Given the description of an element on the screen output the (x, y) to click on. 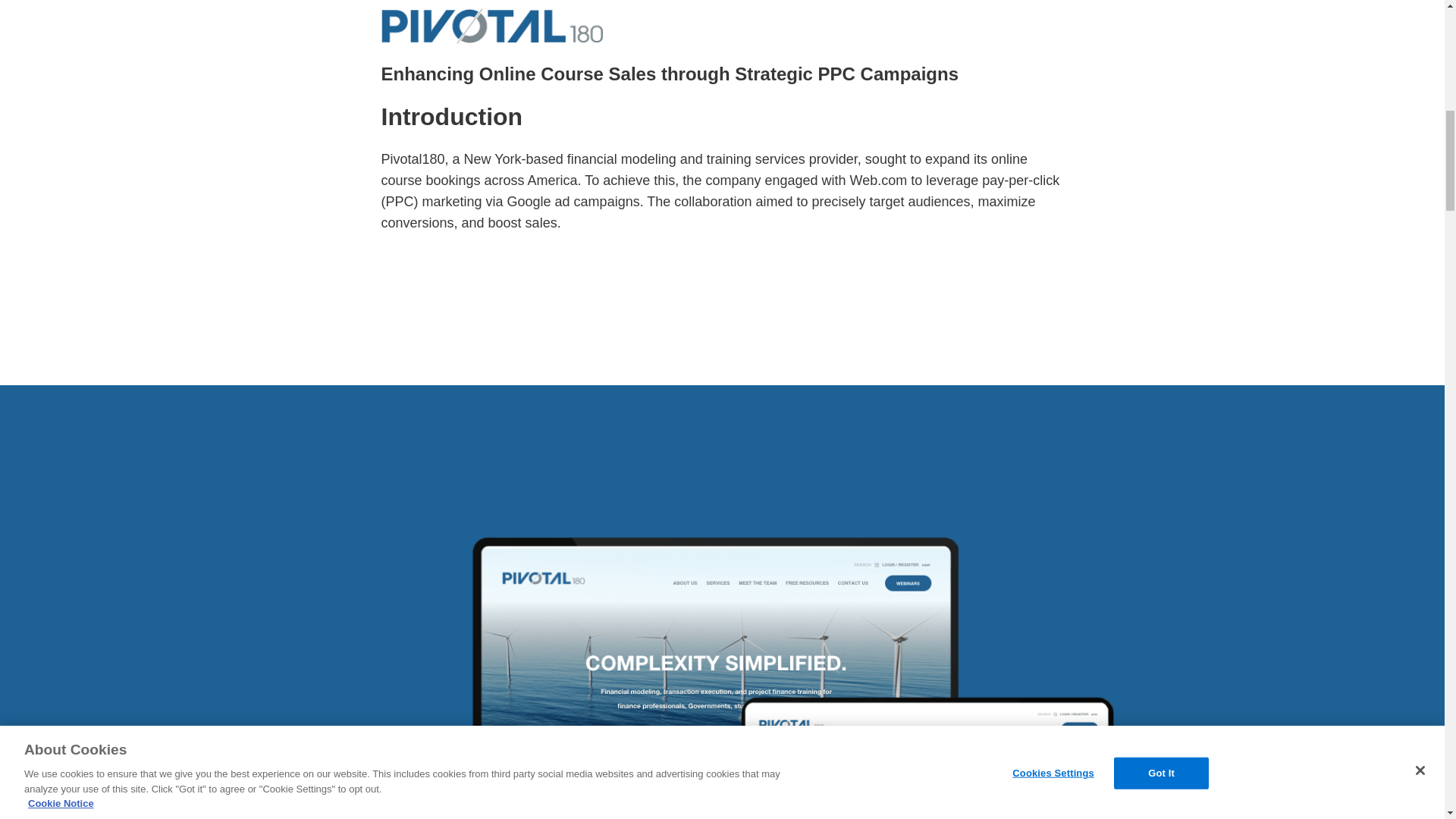
Pivotal180 Logo (491, 26)
